Given the description of an element on the screen output the (x, y) to click on. 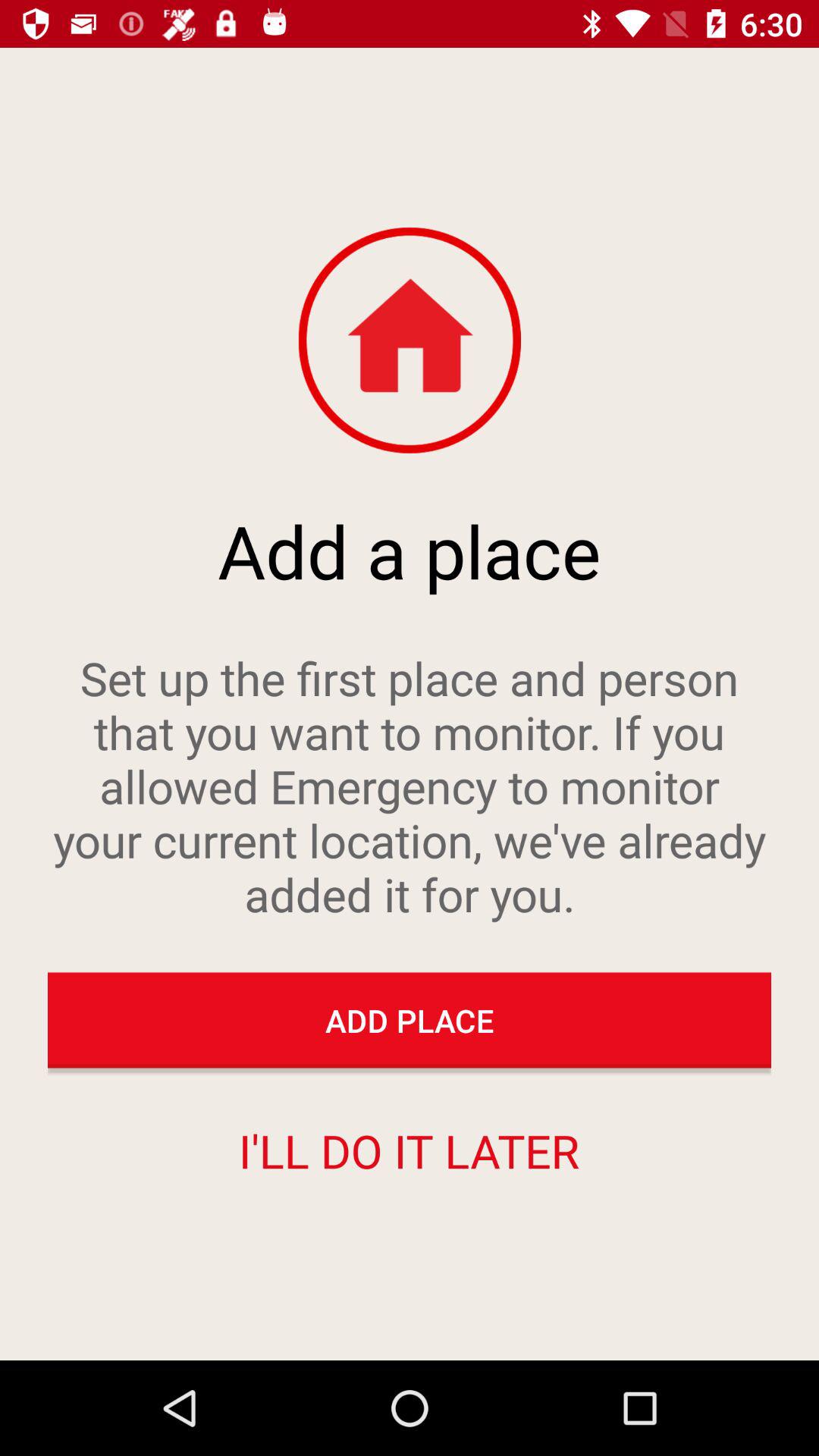
open i ll do item (408, 1150)
